Given the description of an element on the screen output the (x, y) to click on. 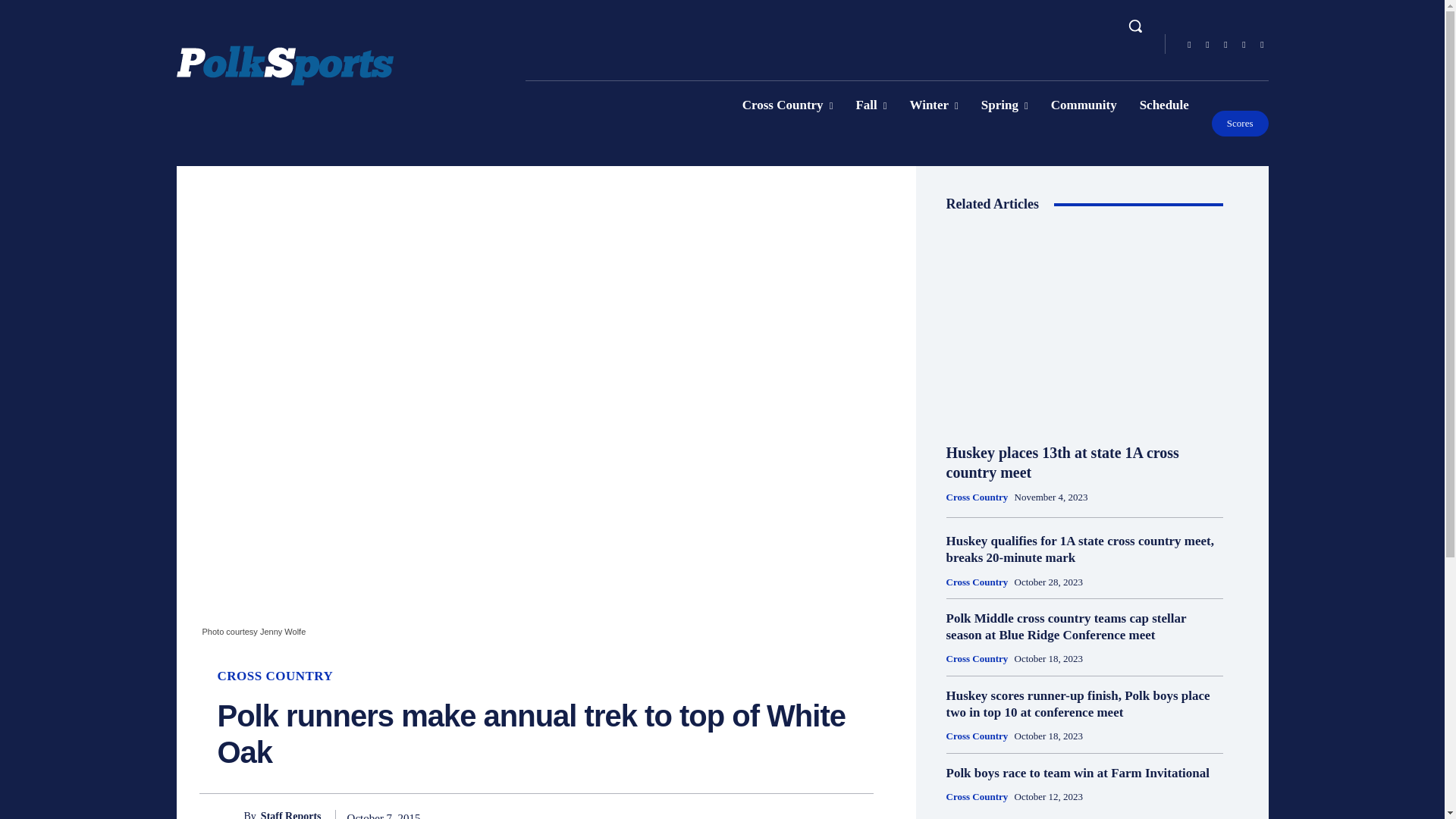
Fall (871, 105)
Twitter (1261, 45)
Instagram (1206, 45)
Scores (1239, 123)
Mail (1224, 45)
Staff Reports (229, 813)
RSS (1243, 45)
Facebook (1188, 45)
Cross Country (787, 105)
